Given the description of an element on the screen output the (x, y) to click on. 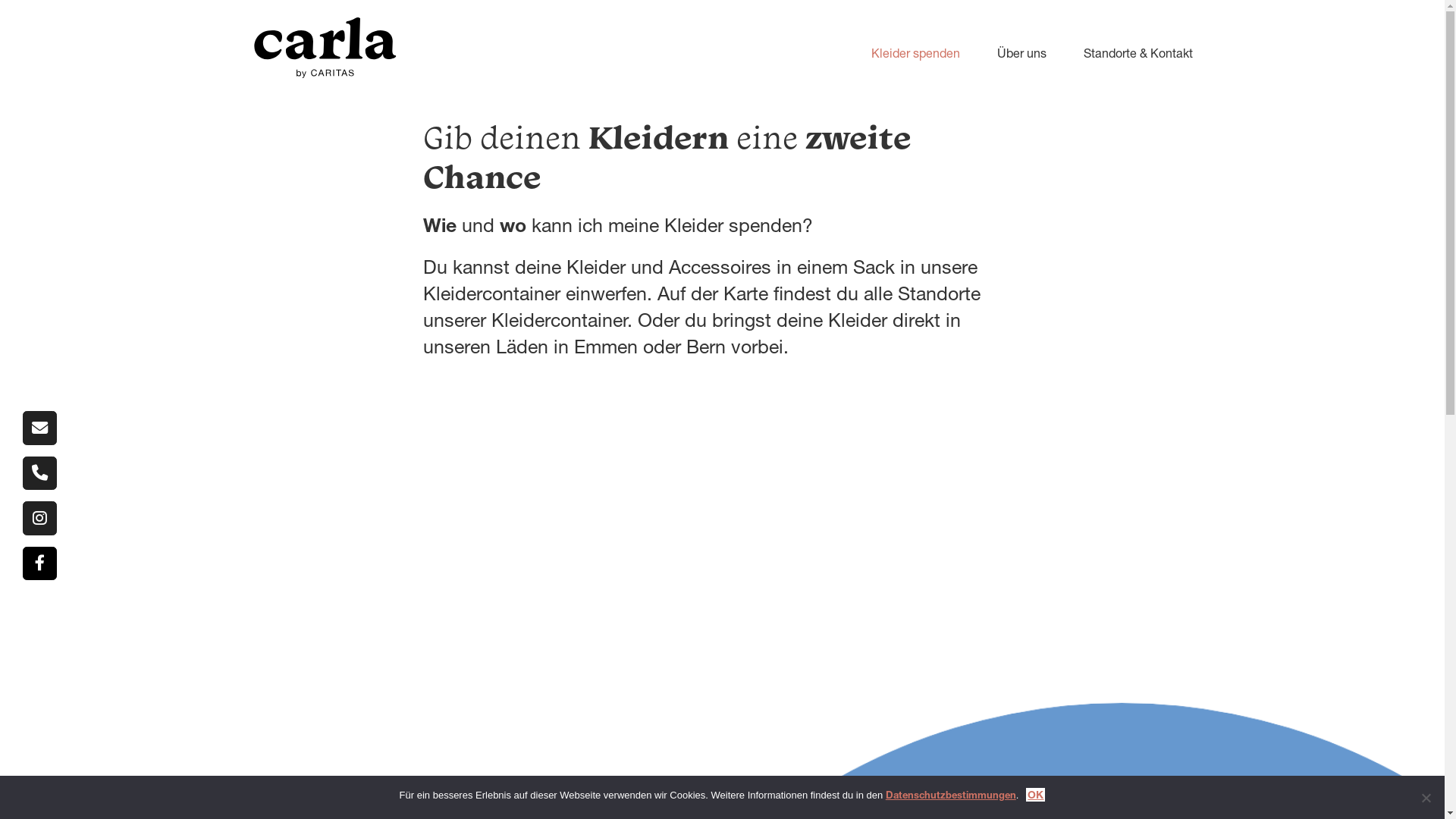
Phone Carla by Caritas Element type: hover (39, 473)
Kleider spenden Element type: text (899, 52)
Standorte & Kontakt Element type: text (1122, 52)
Datenschutzbestimmungen Element type: text (950, 794)
Carla by Caritas on Envelope Element type: hover (39, 428)
Carla by Caritas on Facebook Element type: hover (39, 563)
Carla by Caritas on Instagram Element type: hover (39, 518)
Nein Element type: hover (1425, 797)
OK Element type: text (1035, 794)
